Given the description of an element on the screen output the (x, y) to click on. 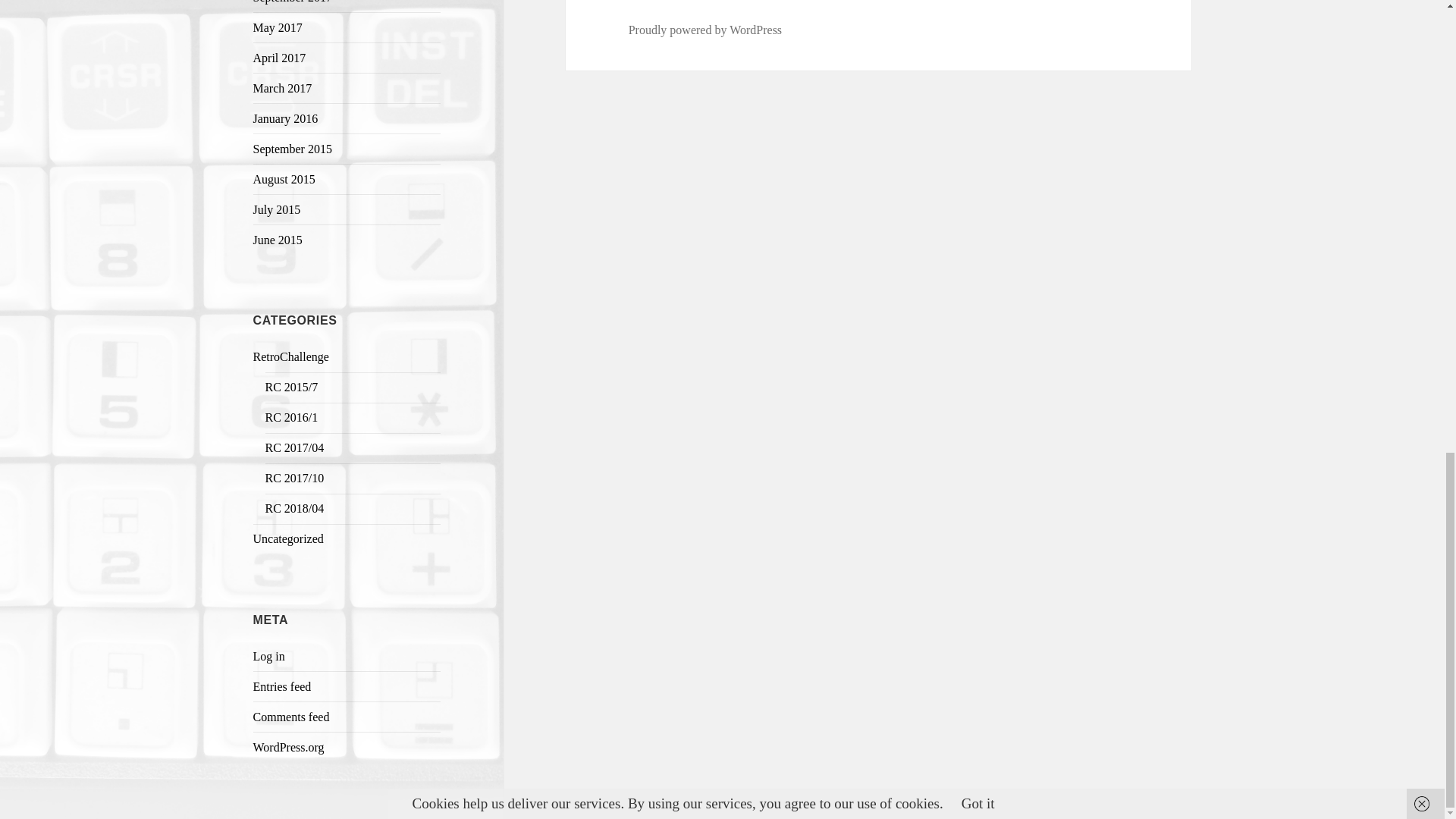
January 2016 (285, 118)
RetroChallenge (291, 356)
Uncategorized (288, 538)
September 2015 (292, 148)
July 2015 (277, 209)
August 2015 (284, 178)
Log in (269, 656)
June 2015 (277, 239)
Entries feed (282, 686)
May 2017 (277, 27)
April 2017 (279, 57)
September 2017 (292, 2)
Comments feed (291, 716)
March 2017 (283, 88)
